Given the description of an element on the screen output the (x, y) to click on. 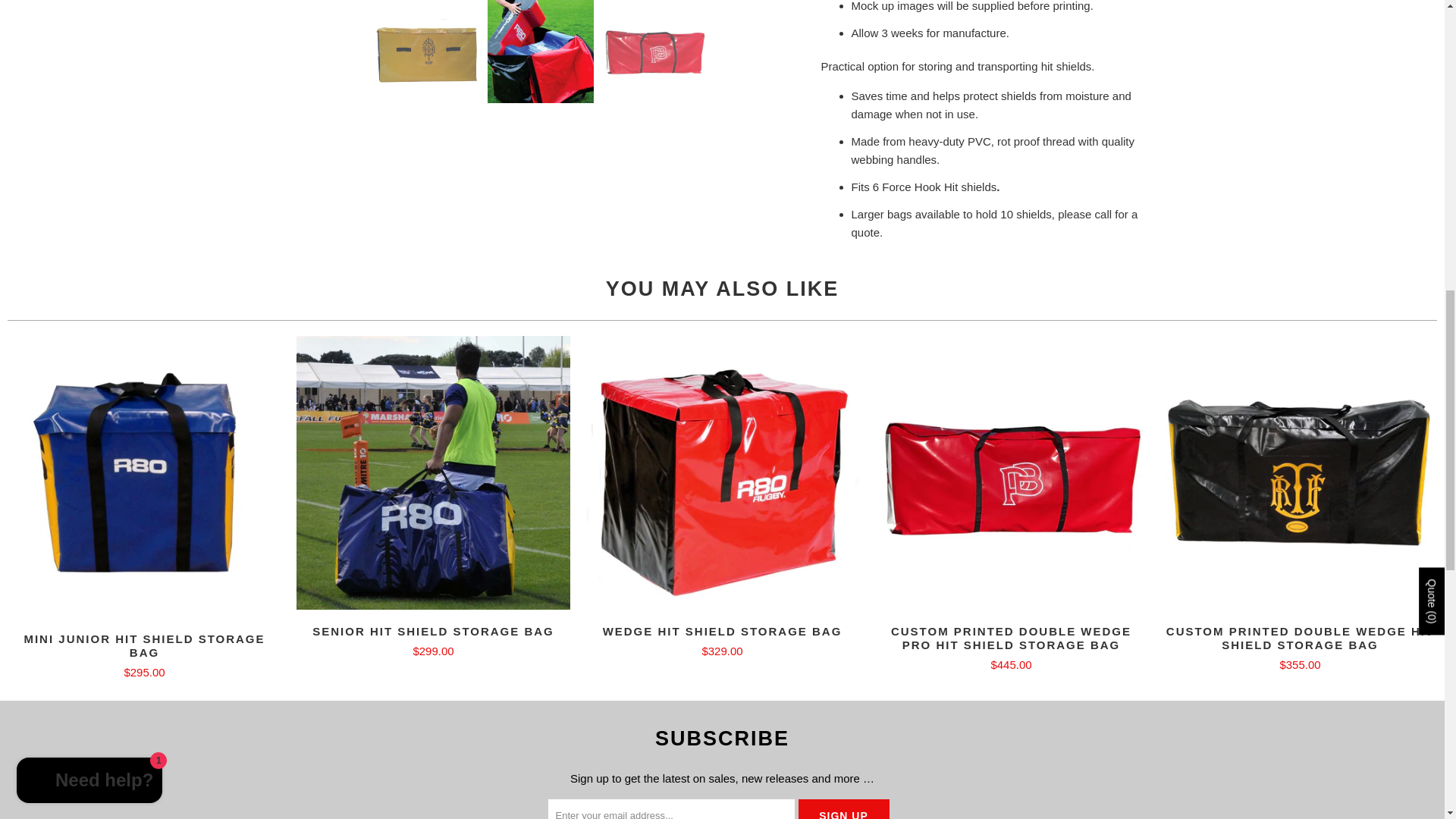
Sign Up (842, 809)
